Given the description of an element on the screen output the (x, y) to click on. 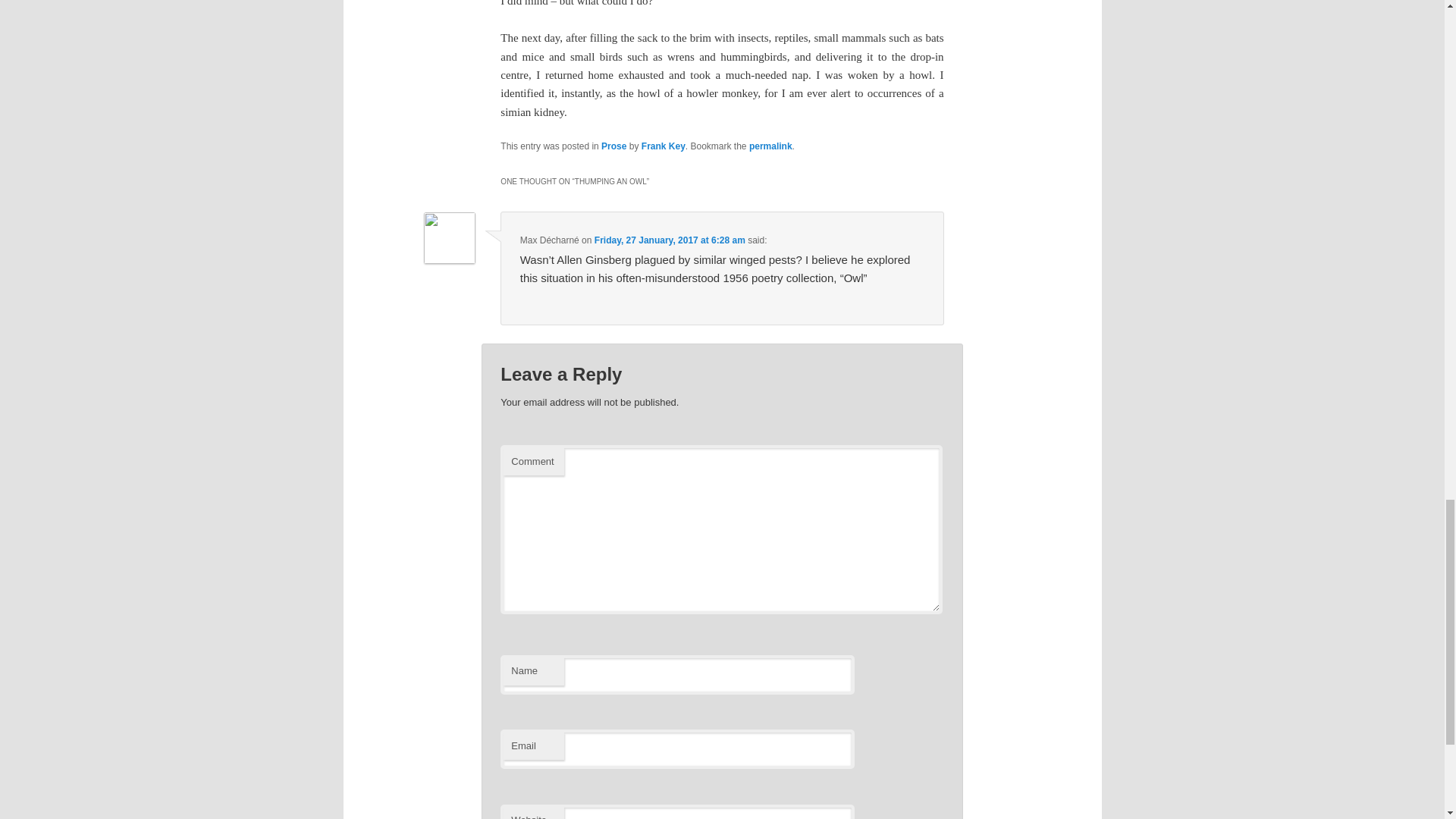
Permalink to Thumping An Owl (770, 145)
Prose (613, 145)
permalink (770, 145)
Friday, 27 January, 2017 at 6:28 am (669, 240)
Frank Key (663, 145)
